Given the description of an element on the screen output the (x, y) to click on. 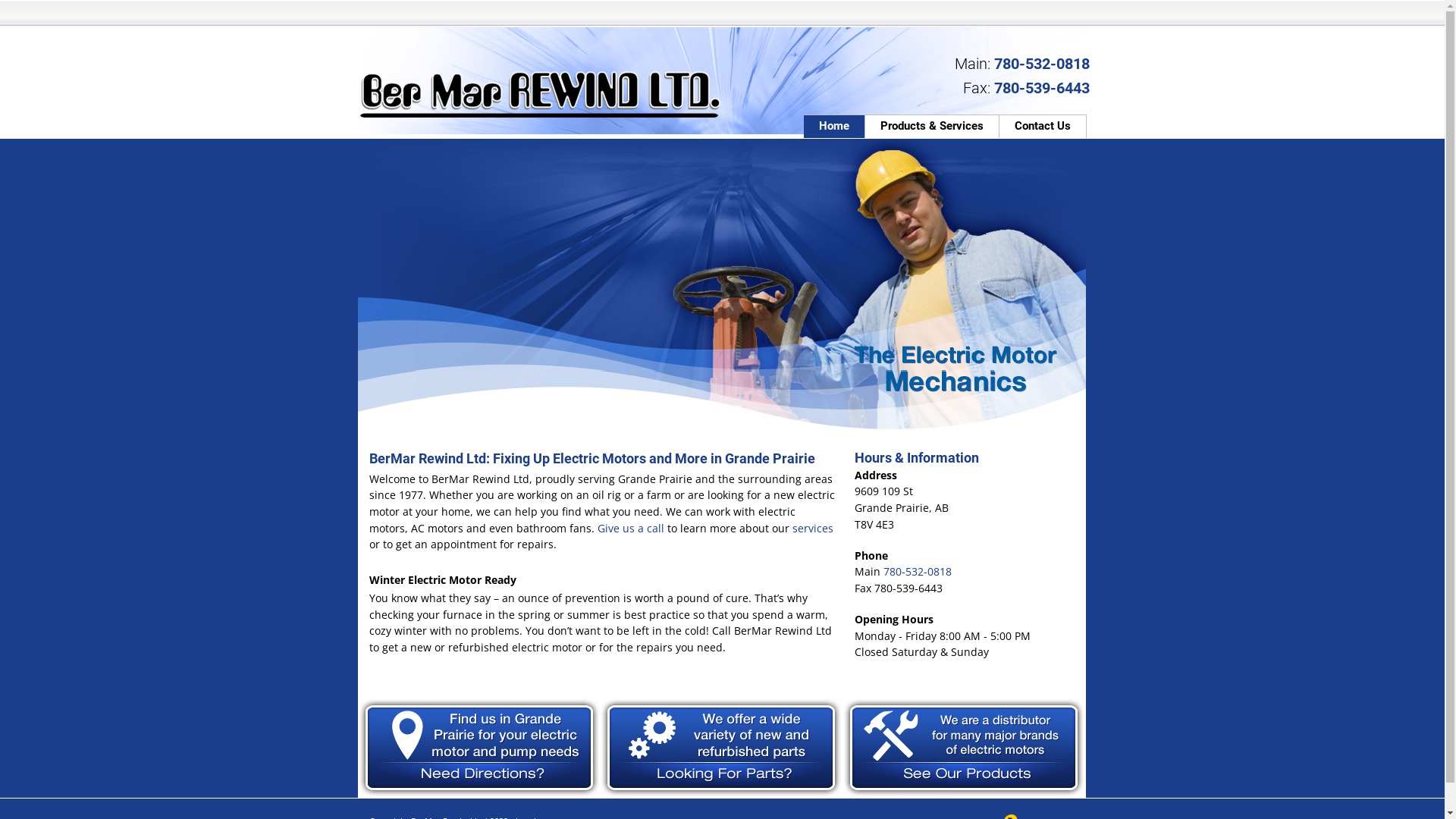
Embedded Content Element type: hover (1058, 14)
Contact Us Element type: text (1042, 126)
Embedded Content Element type: hover (943, 13)
Products & Services Element type: text (932, 126)
780-532-0818 Element type: text (1039, 63)
Give us a call Element type: text (629, 527)
services Element type: text (810, 527)
780-532-0818 Element type: text (916, 571)
Home Element type: text (834, 126)
